Given the description of an element on the screen output the (x, y) to click on. 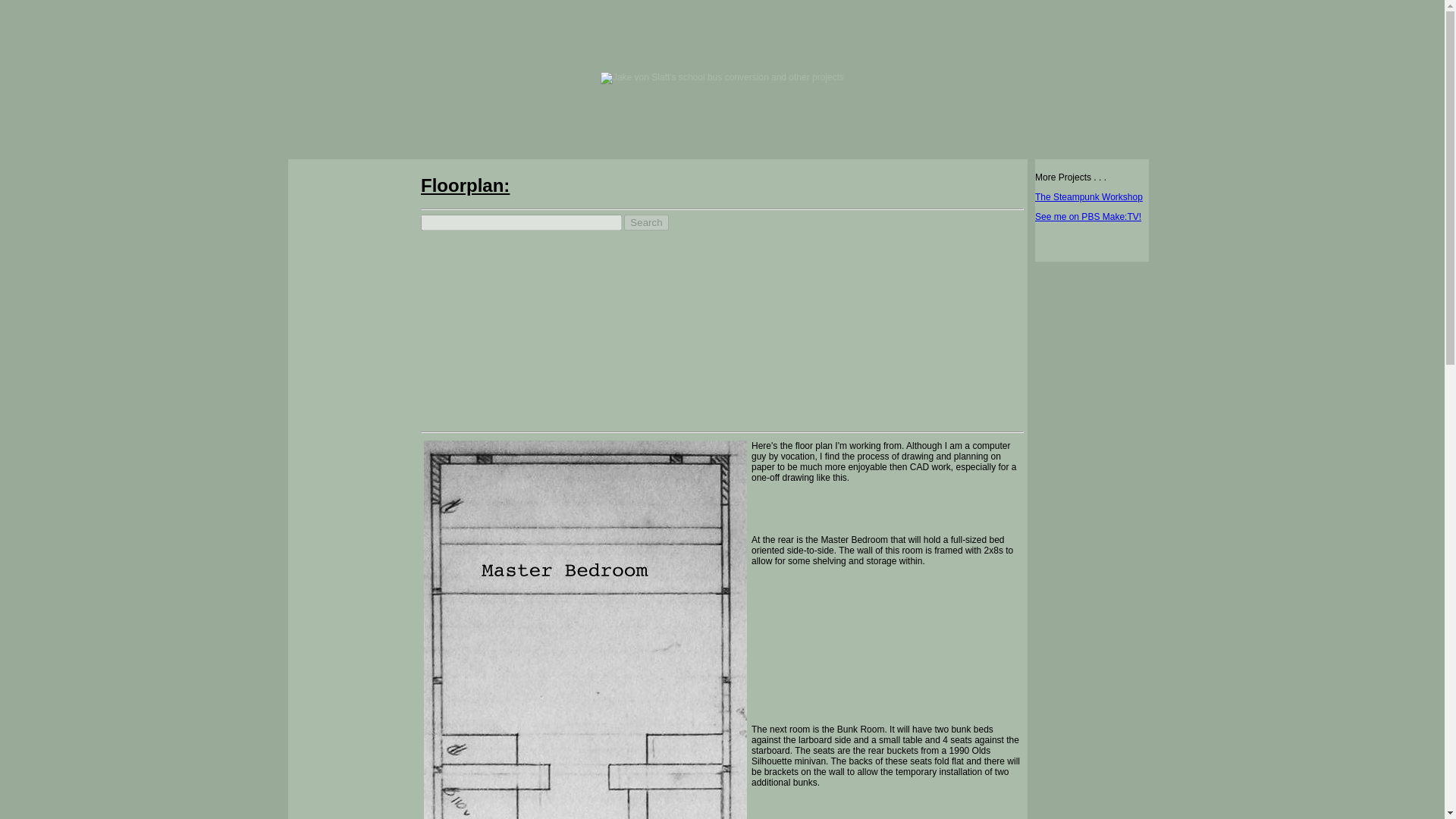
Advertisement (895, 320)
The Steampunk Workshop (1088, 196)
See me on PBS Make:TV! (1088, 216)
Search (646, 222)
Search (646, 222)
Advertisement (352, 727)
